Given the description of an element on the screen output the (x, y) to click on. 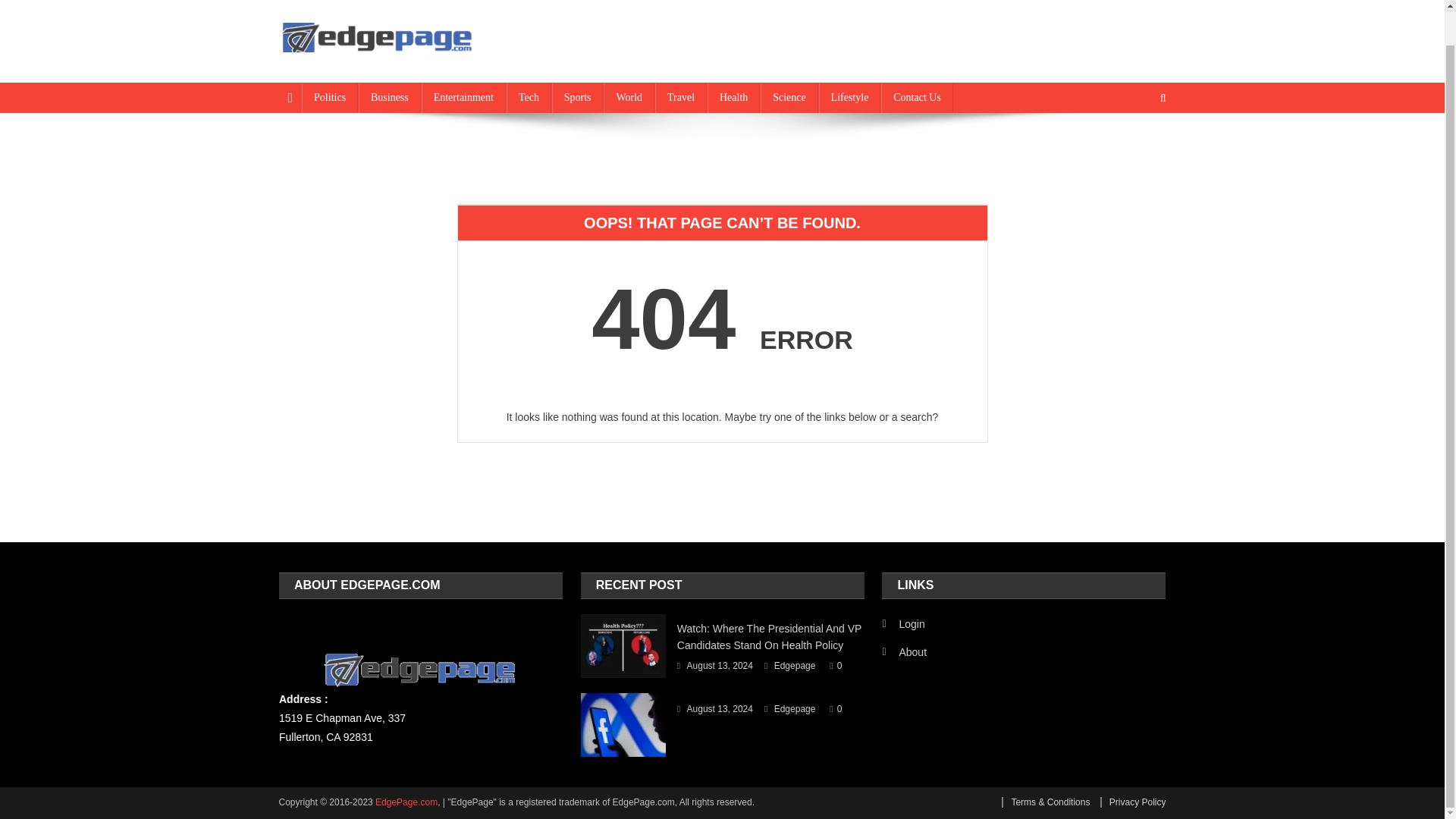
Politics (329, 97)
Health (733, 97)
Edgepage (794, 709)
Edgepage (794, 666)
World (628, 97)
Sports (577, 97)
About (904, 651)
Tech (528, 97)
Privacy Policy (1133, 801)
